Given the description of an element on the screen output the (x, y) to click on. 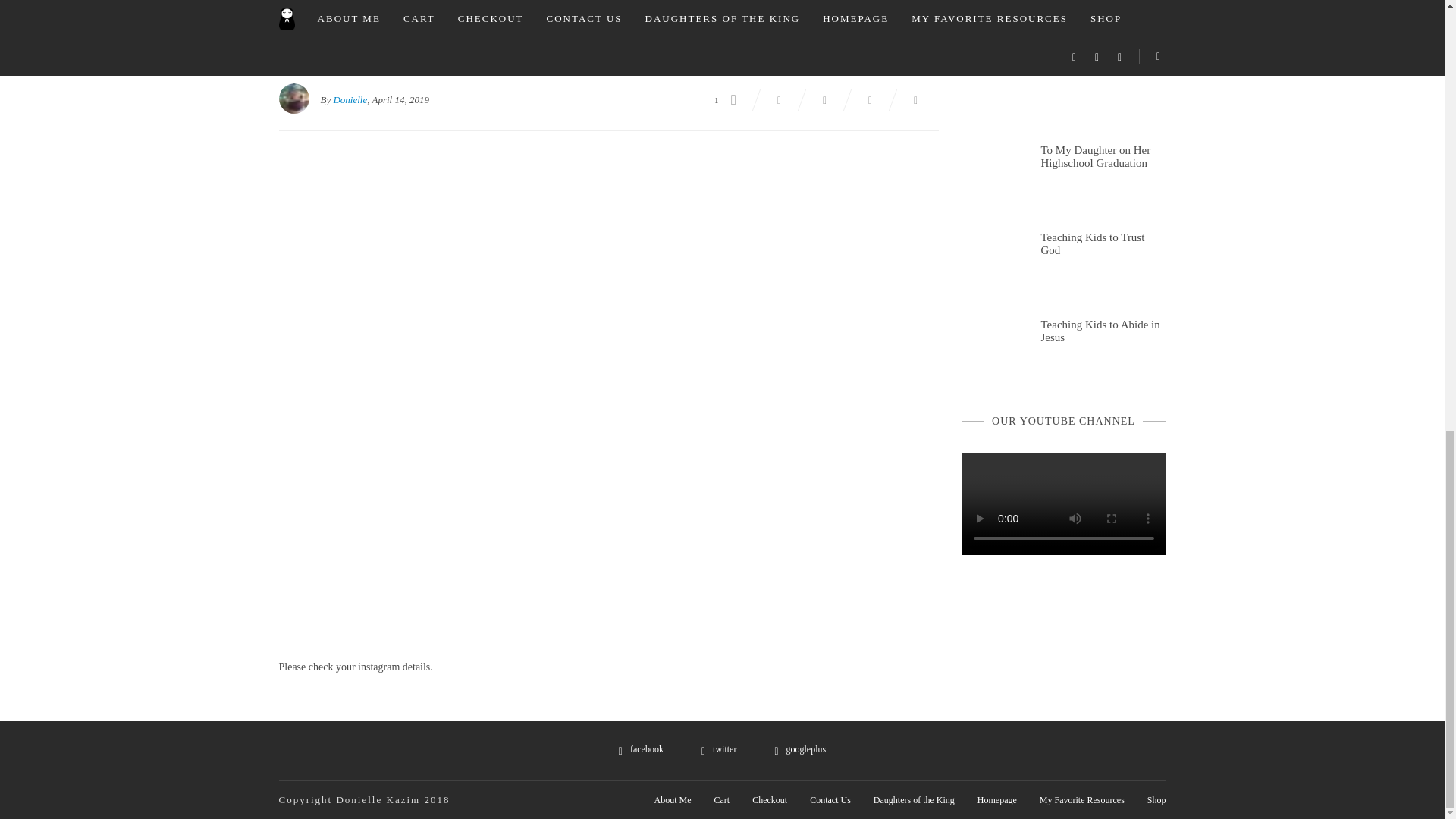
Teaching Kids to Abide in Jesus (1103, 328)
Continue Reading (317, 44)
Weighing the Value of Mass Produced Worship Music (1103, 4)
Becoming a Party Family! (1100, 61)
facebook (641, 750)
, April 14, 2019 (397, 98)
To My Daughter on Her Highschool Graduation (1103, 154)
By (325, 98)
Teaching Kids to Trust God (1103, 242)
